Given the description of an element on the screen output the (x, y) to click on. 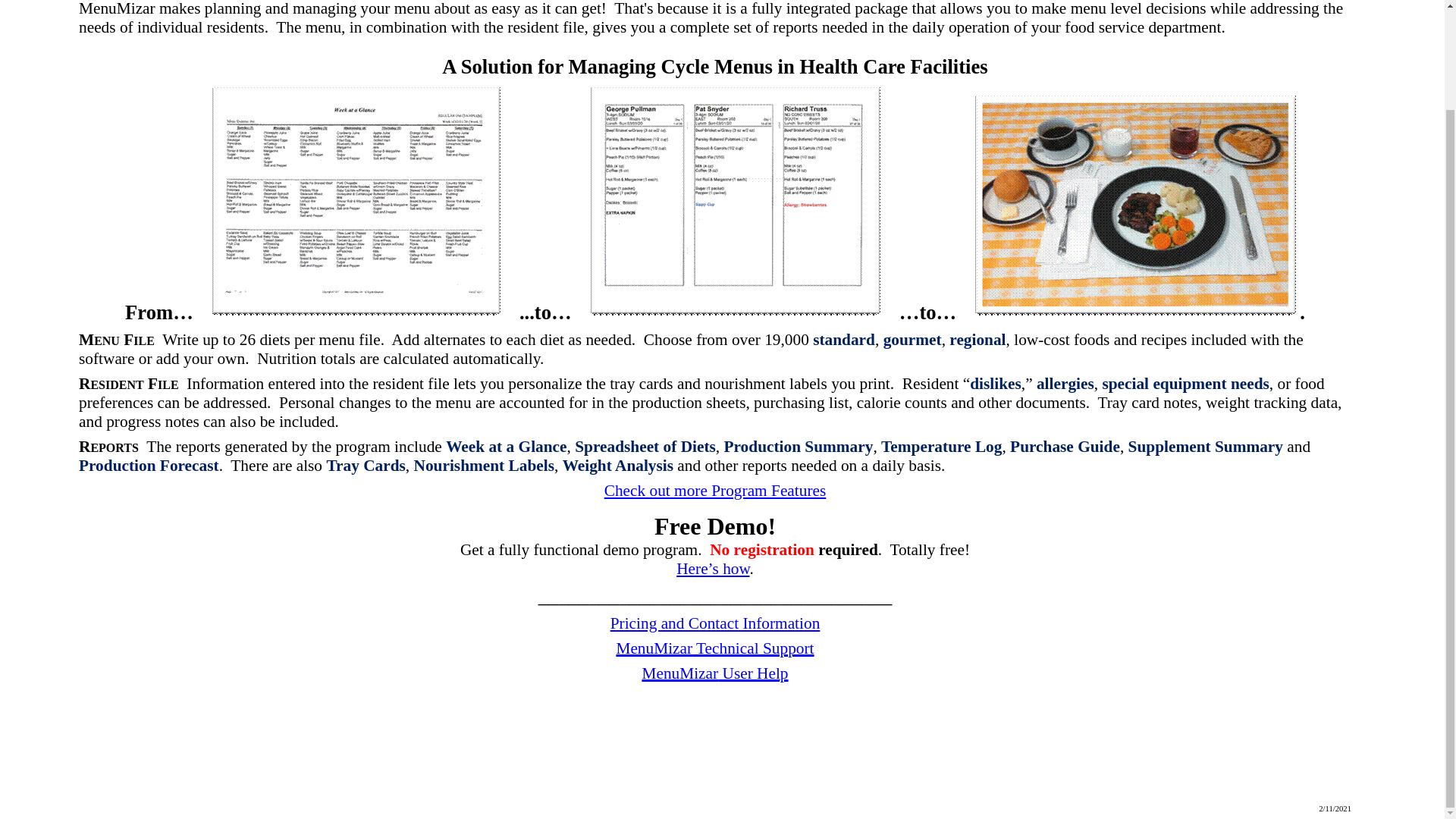
Check out more Program Features (715, 490)
Pricing and Contact Information (715, 623)
MenuMizar User Help (714, 673)
MenuMizar Technical Support (714, 648)
